Given the description of an element on the screen output the (x, y) to click on. 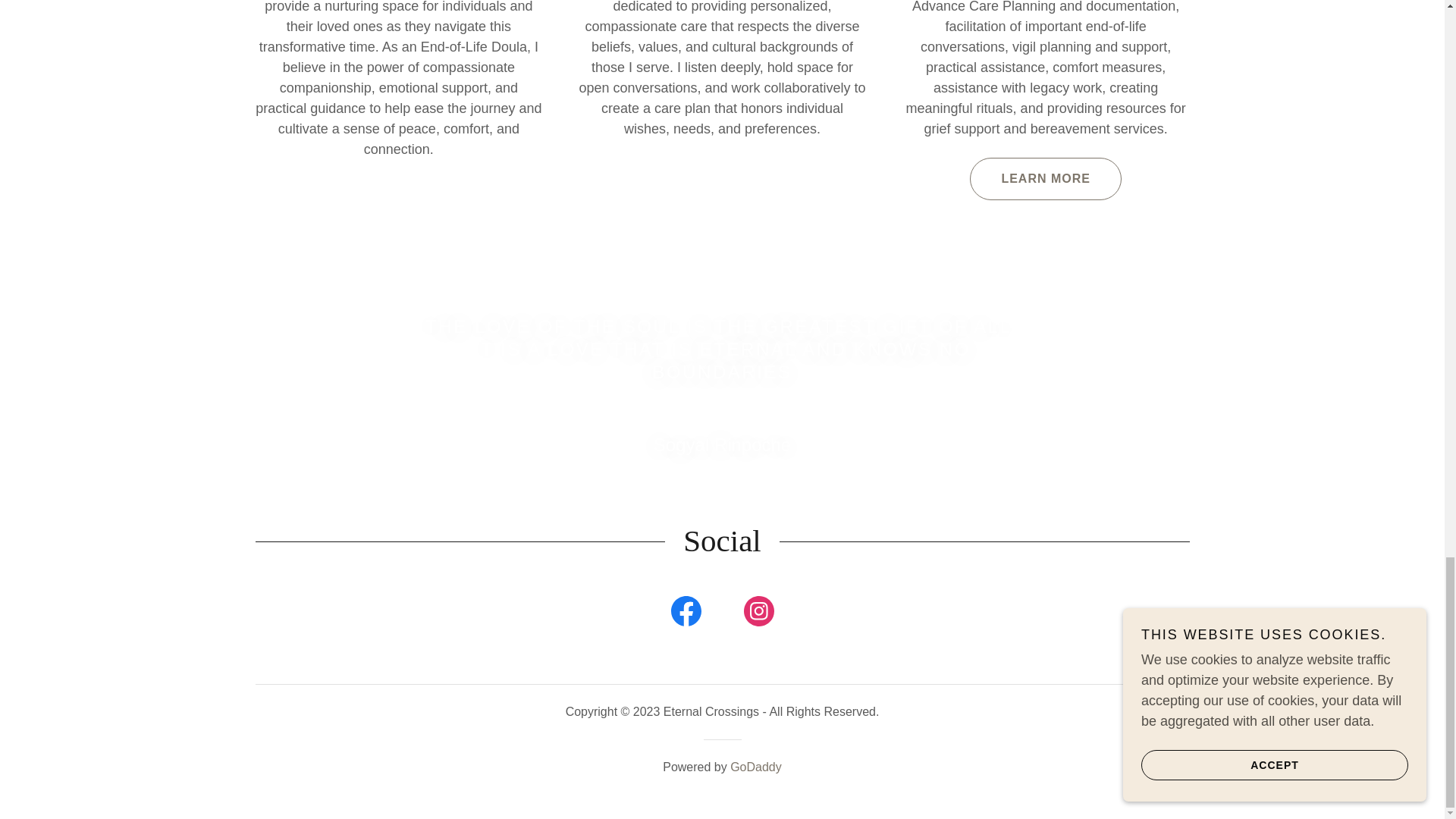
GoDaddy (755, 766)
LEARN MORE (1045, 178)
